Given the description of an element on the screen output the (x, y) to click on. 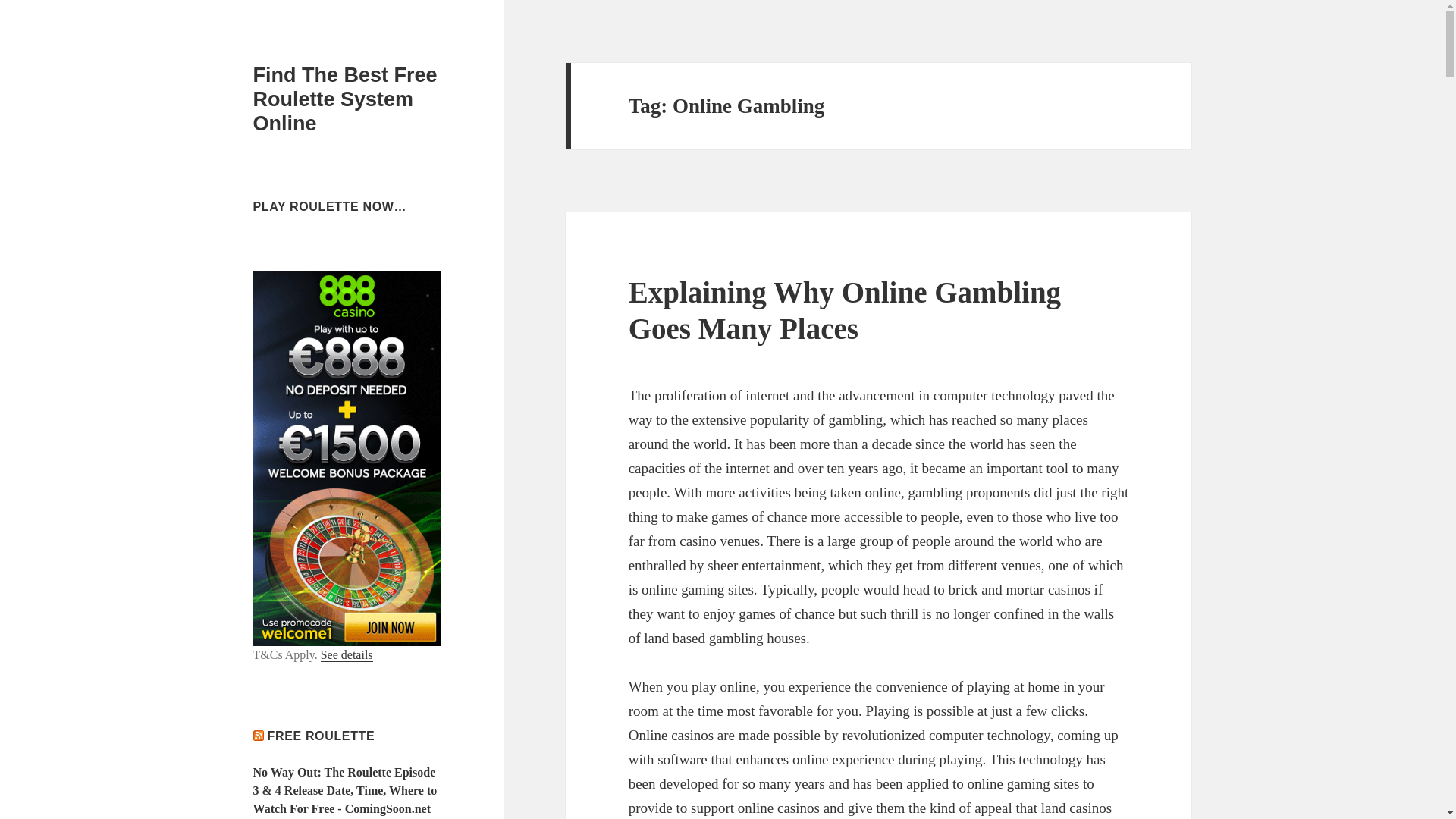
Find The Best Free Roulette System Online (345, 99)
FREE ROULETTE (321, 735)
Explaining Why Online Gambling Goes Many Places (844, 310)
See details (346, 654)
